Given the description of an element on the screen output the (x, y) to click on. 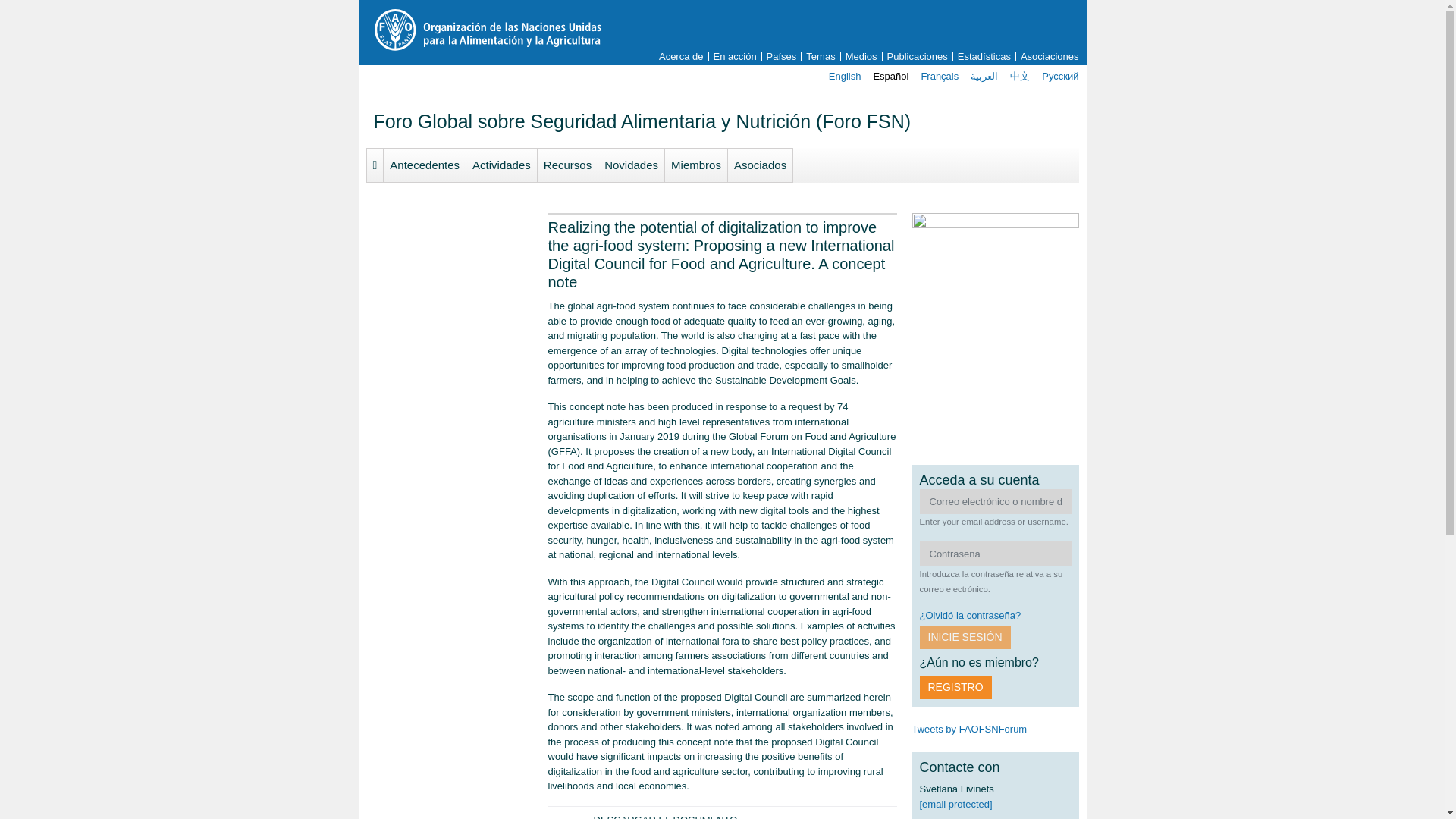
Actividades (501, 164)
Asociaciones (1047, 56)
Tweets by FAOFSNForum (968, 728)
Temas (821, 56)
FAO Homepage (485, 28)
REGISTRO (954, 687)
Recursos (566, 164)
Asociados (760, 164)
Medios (861, 56)
Acerca de (681, 56)
